Given the description of an element on the screen output the (x, y) to click on. 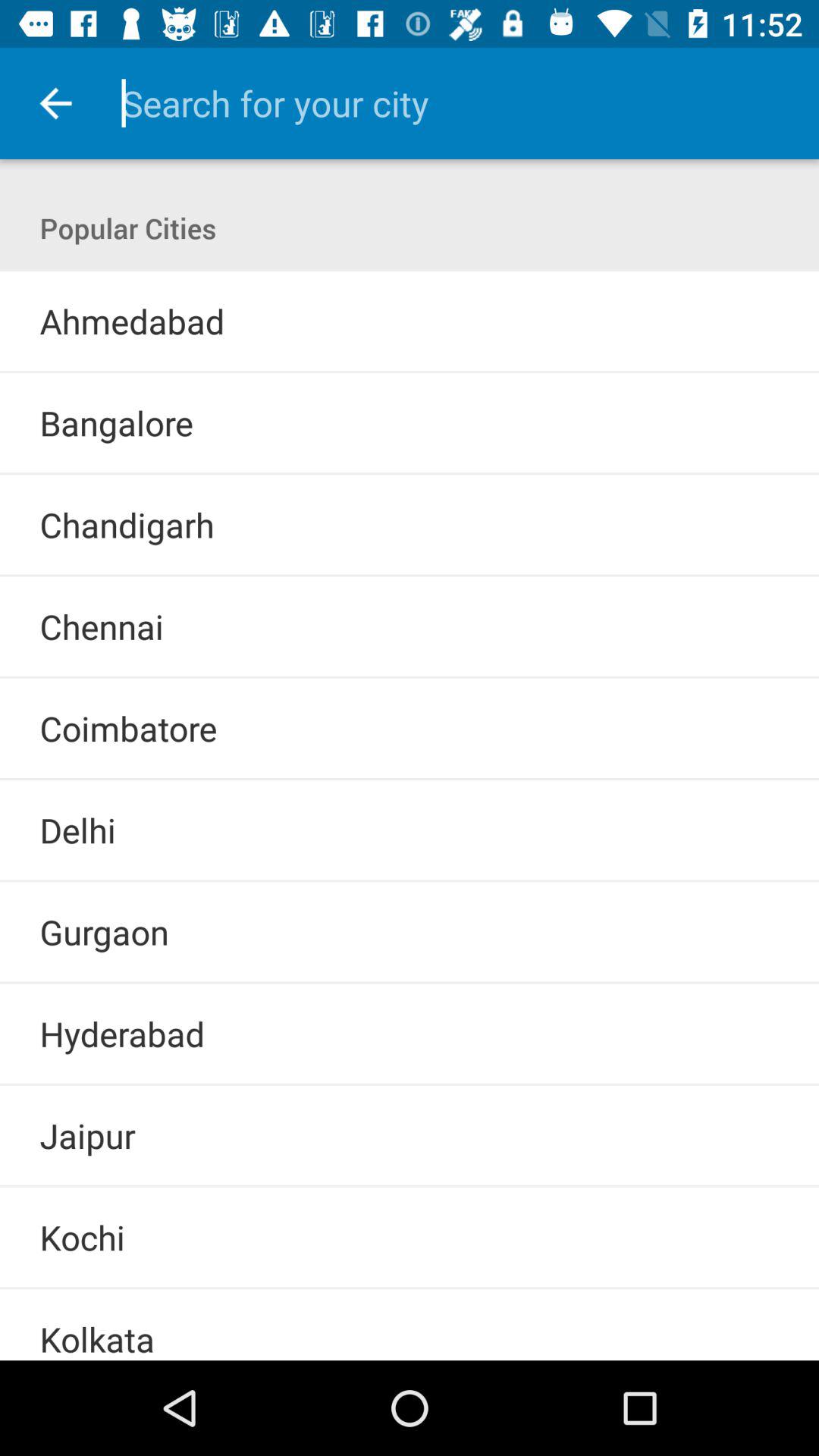
launch delhi (77, 830)
